Given the description of an element on the screen output the (x, y) to click on. 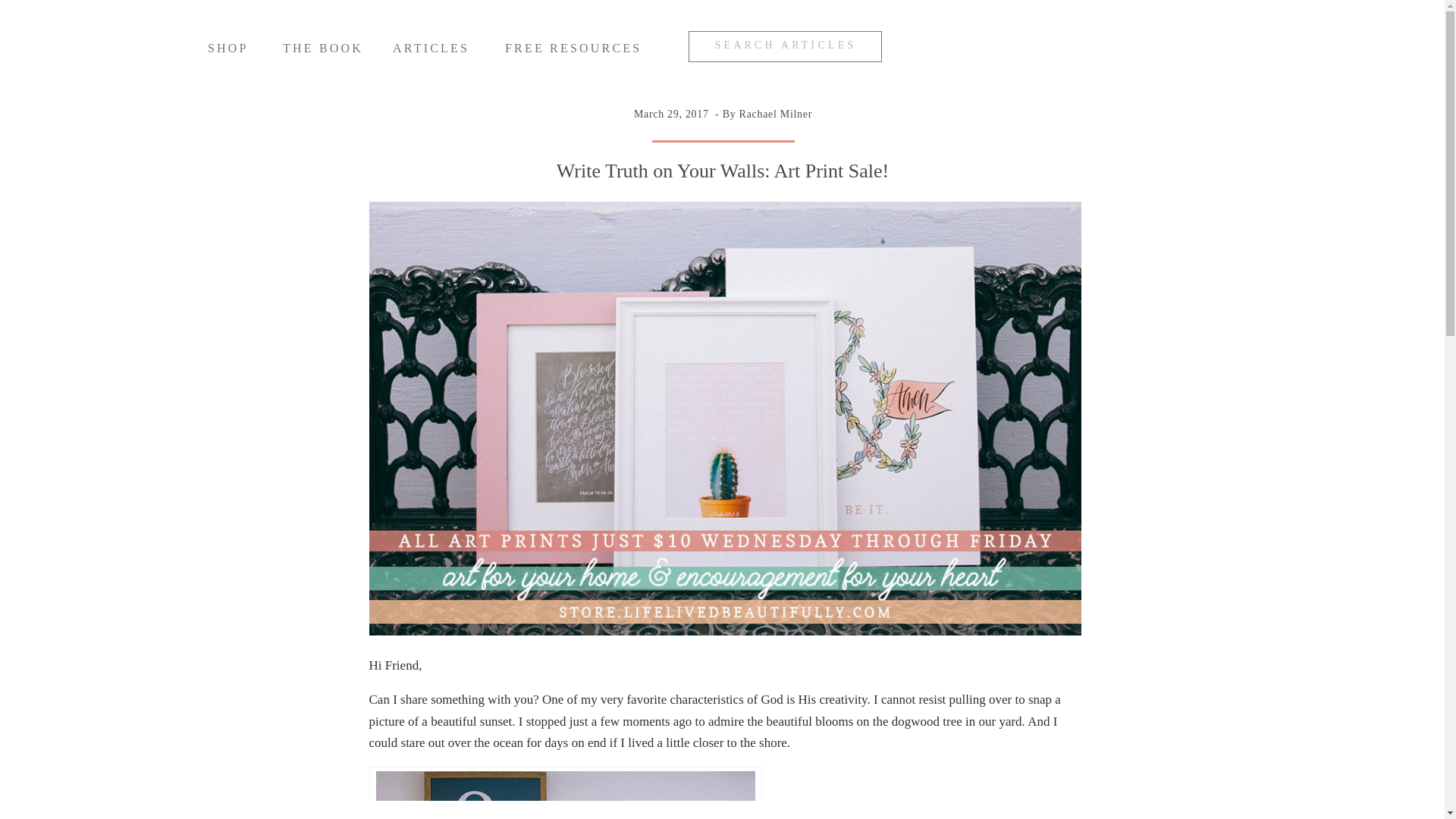
THE BOOK (323, 52)
ARTICLES (433, 52)
SHOP (234, 52)
FREE RESOURCES (576, 52)
